Given the description of an element on the screen output the (x, y) to click on. 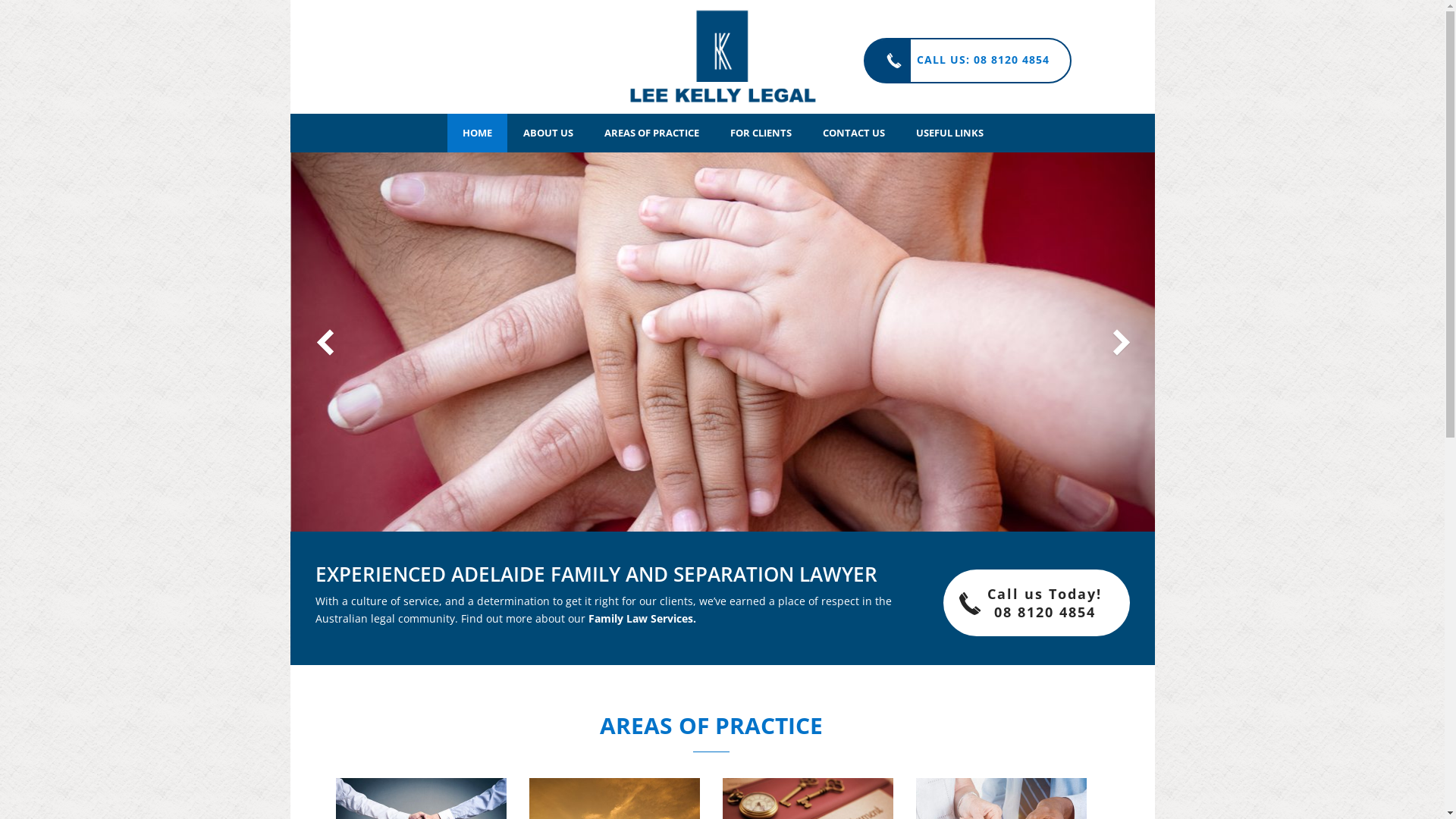
Lee Kelly Legal Element type: hover (722, 56)
Family Law Services. Element type: text (642, 618)
Adelaide Family Lawyer Element type: hover (722, 56)
Call us Today! 08 8120 4854 Element type: text (1036, 602)
ABOUT US Element type: text (548, 132)
CONTACT US Element type: text (852, 132)
CALL US: 08 8120 4854 Element type: text (966, 60)
AREAS OF PRACTICE Element type: text (650, 132)
USEFUL LINKS Element type: text (949, 132)
FOR CLIENTS Element type: text (760, 132)
HOME Element type: text (477, 132)
